Given the description of an element on the screen output the (x, y) to click on. 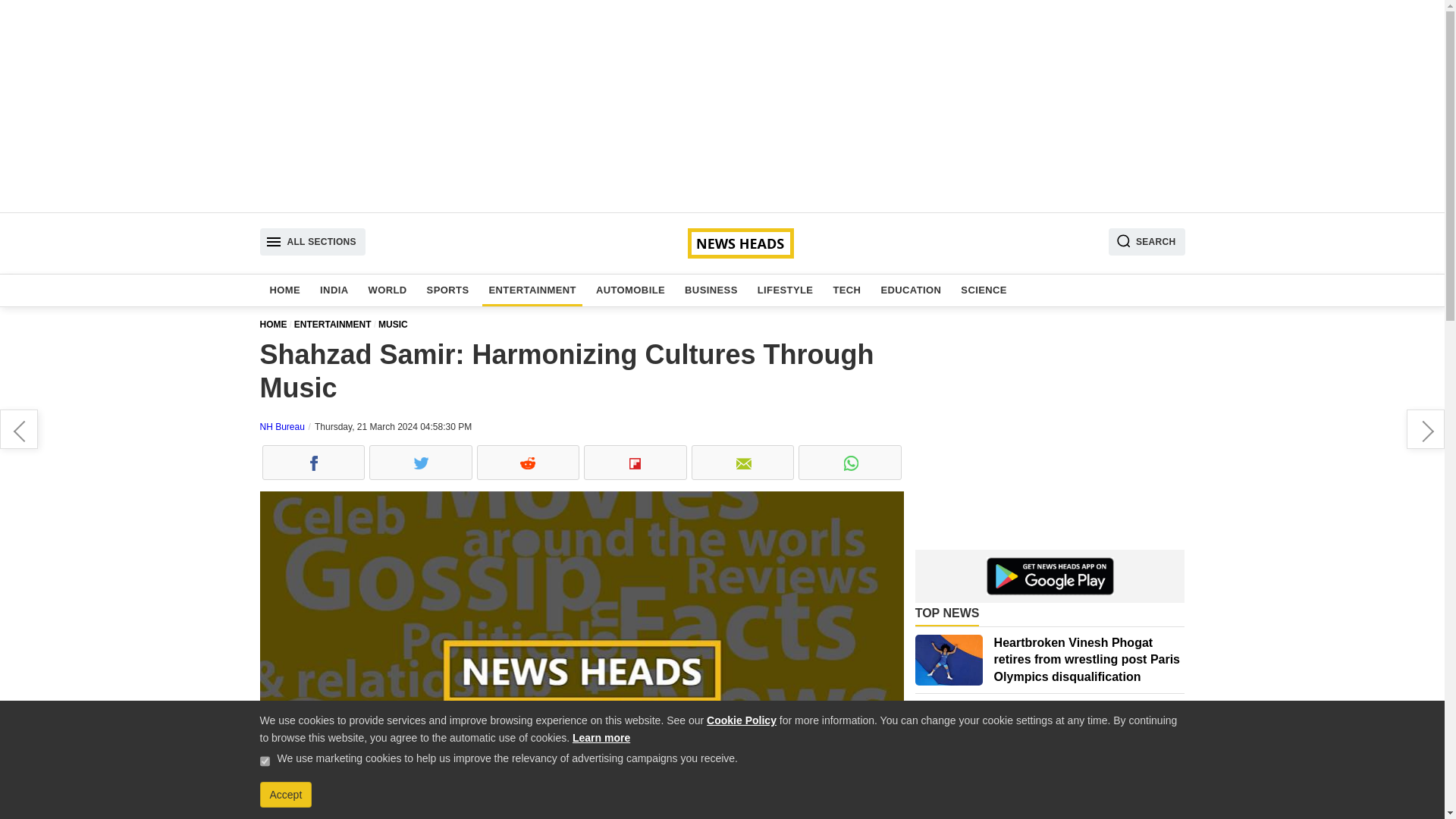
ALL SECTIONS (312, 241)
Advertisement (1050, 436)
ENTERTAINMENT (530, 290)
SPORTS (448, 290)
SEARCH (1146, 241)
EDUCATION (911, 290)
HOME (276, 324)
Cookie Policy (741, 720)
